Given the description of an element on the screen output the (x, y) to click on. 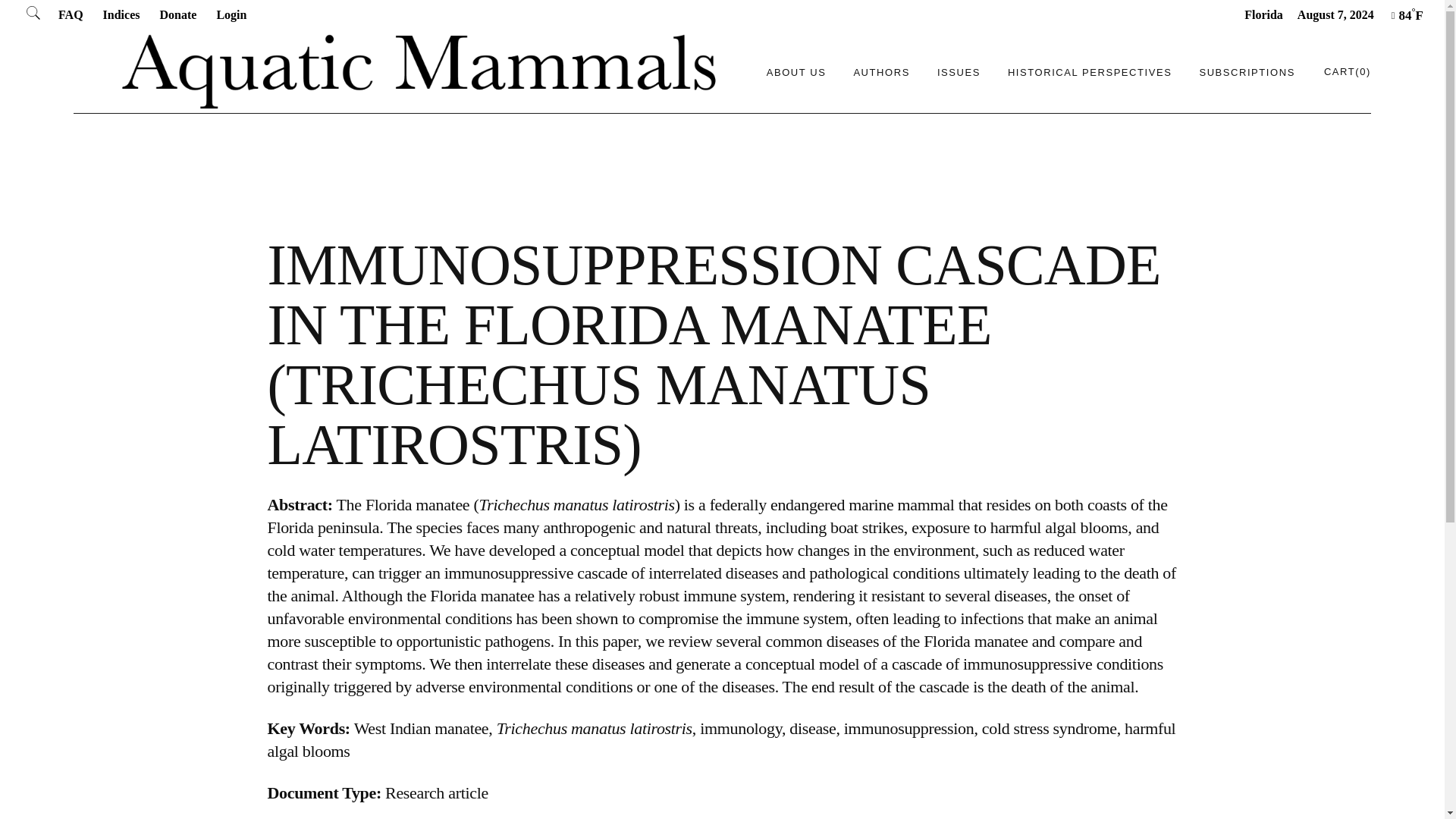
Indices (121, 14)
Login (230, 14)
Donate (177, 14)
FAQ (70, 14)
HISTORICAL PERSPECTIVES (1089, 71)
